Given the description of an element on the screen output the (x, y) to click on. 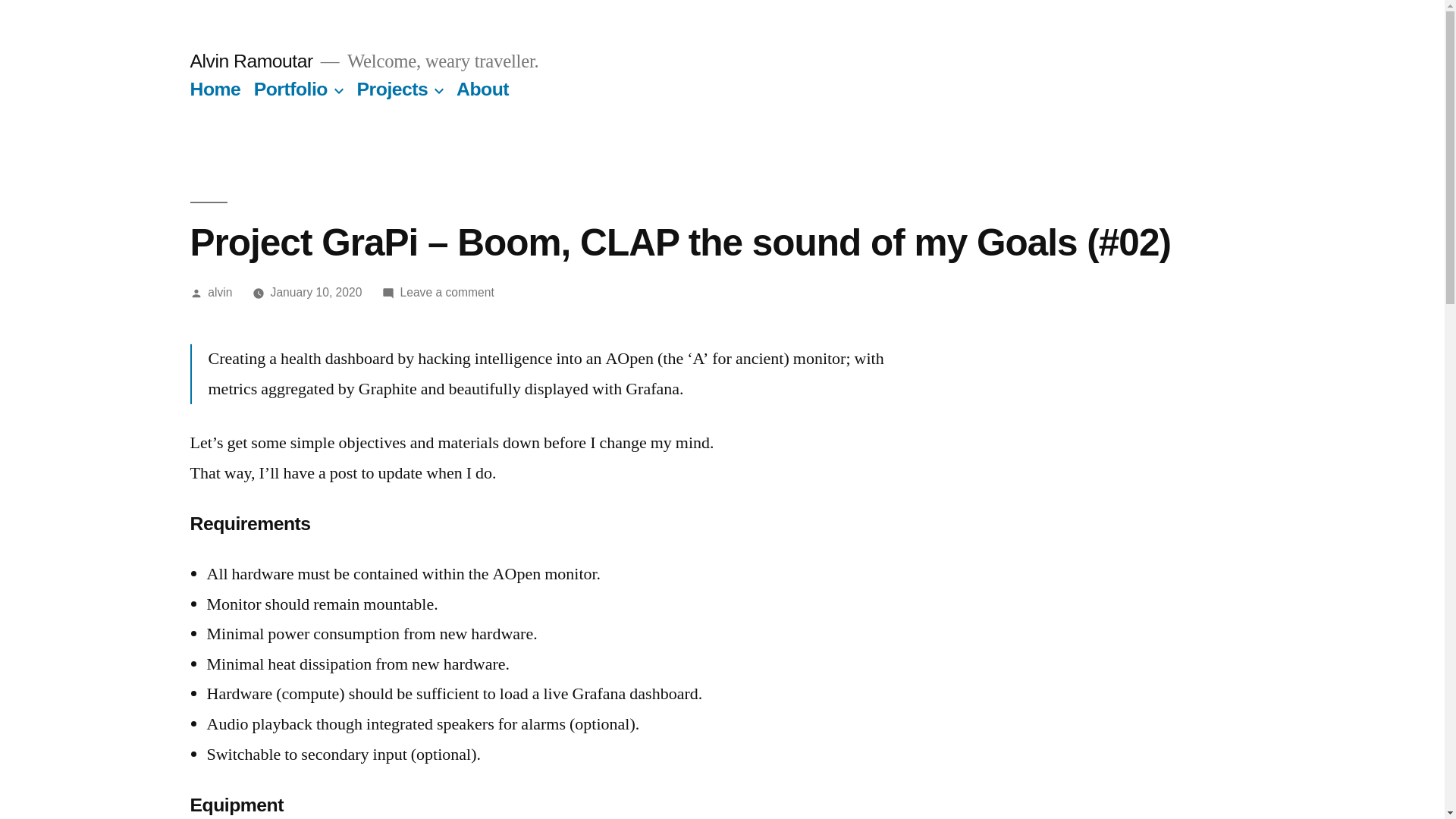
About Element type: text (482, 88)
Alvin Ramoutar Element type: text (250, 60)
Portfolio Element type: text (290, 88)
Home Element type: text (214, 88)
January 10, 2020 Element type: text (316, 291)
alvin Element type: text (219, 291)
Projects Element type: text (392, 88)
